Given the description of an element on the screen output the (x, y) to click on. 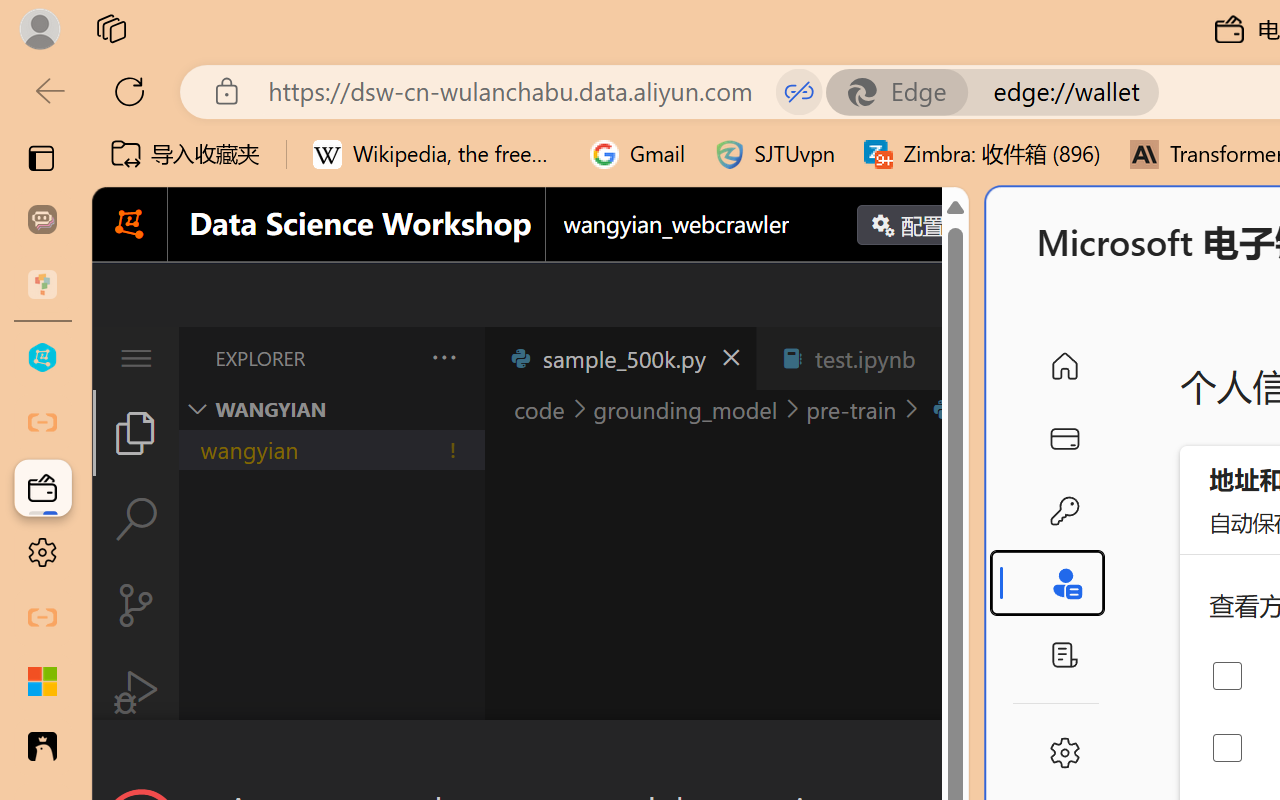
Edge (905, 91)
sample_500k.py (619, 358)
Explorer (Ctrl+Shift+E) (135, 432)
